Given the description of an element on the screen output the (x, y) to click on. 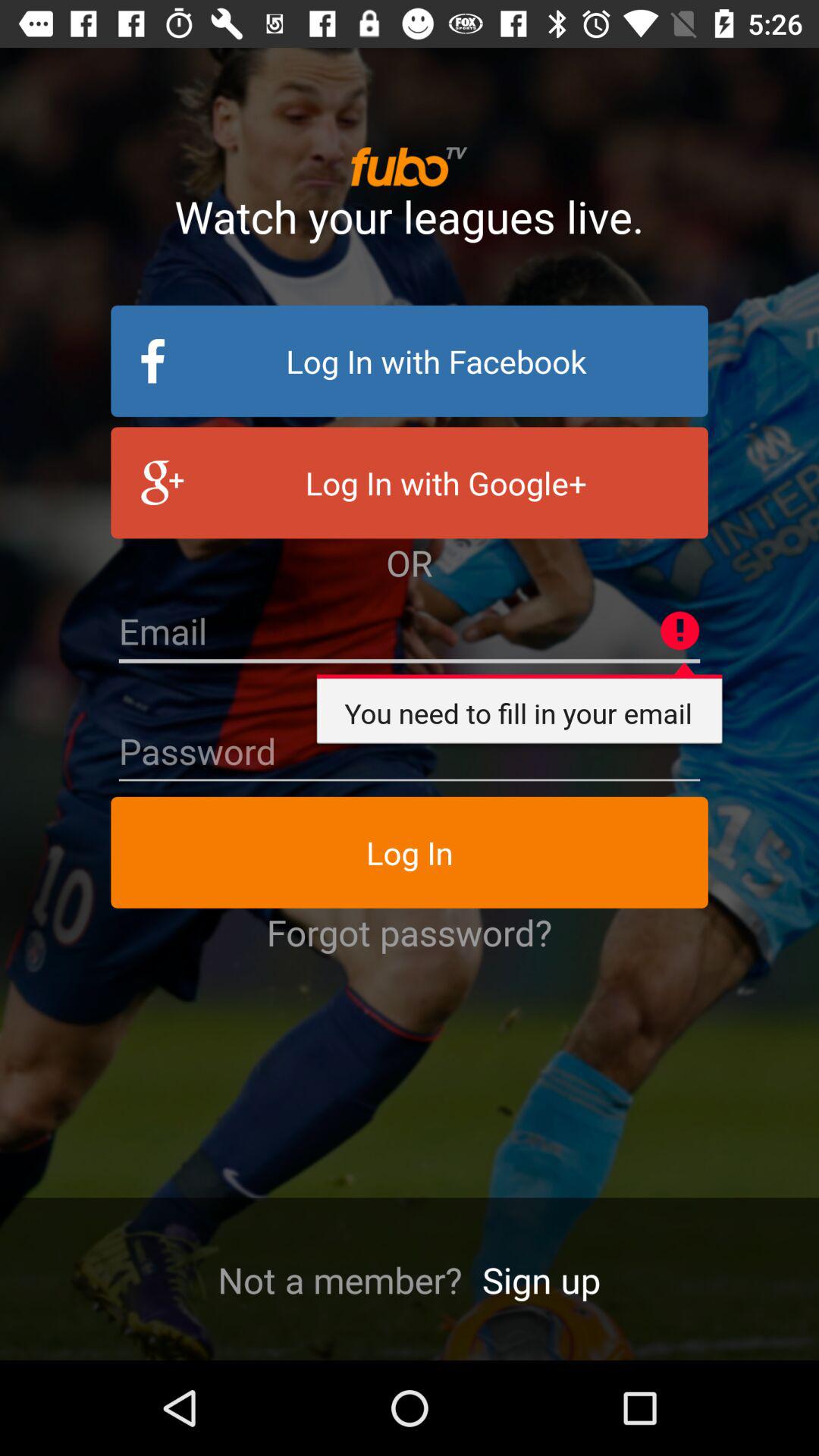
enter email (409, 631)
